Given the description of an element on the screen output the (x, y) to click on. 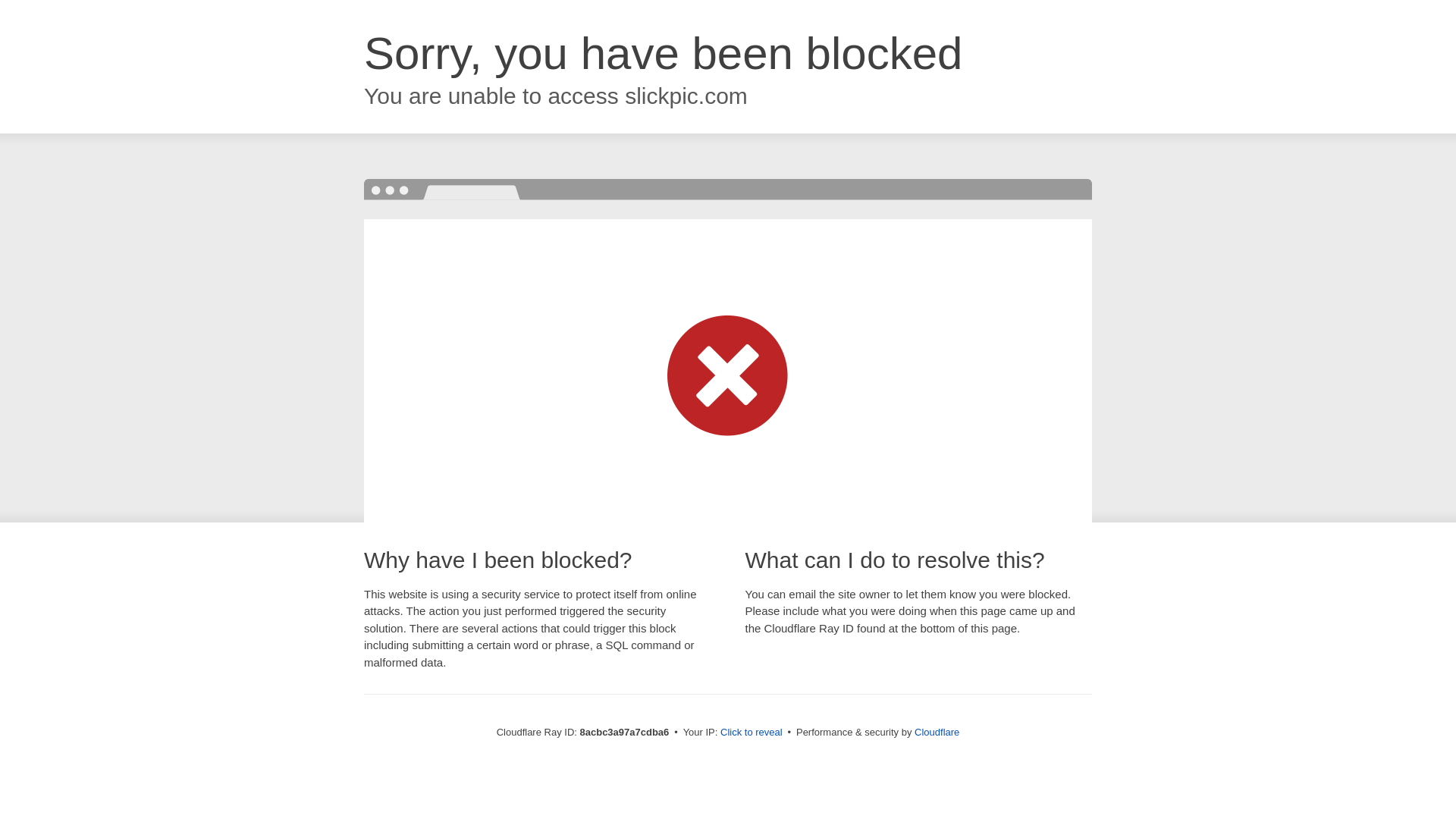
Click to reveal (751, 732)
Cloudflare (936, 731)
